Given the description of an element on the screen output the (x, y) to click on. 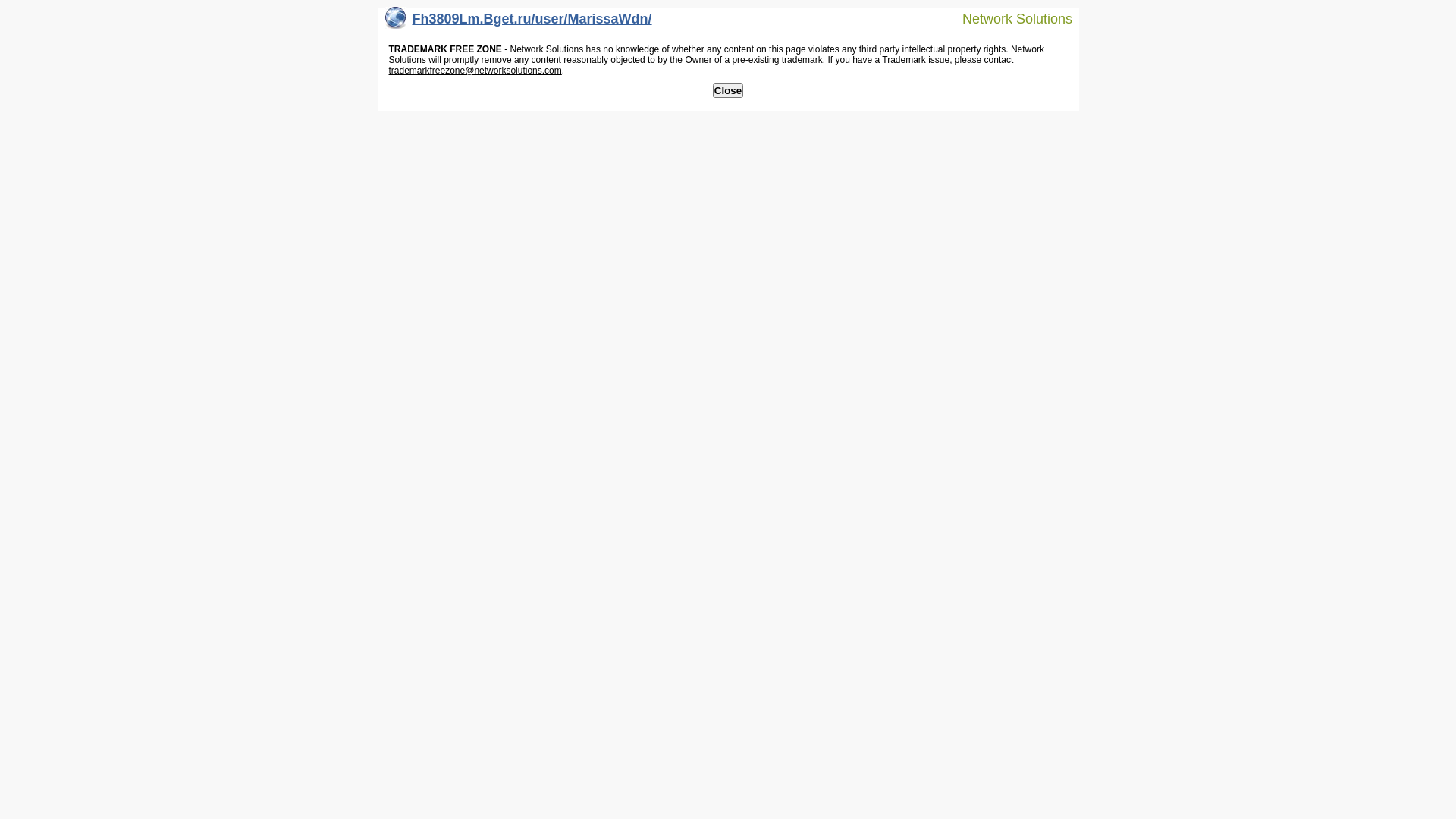
Fh3809Lm.Bget.ru/user/MarissaWdn/ Element type: text (518, 21)
Close Element type: text (727, 90)
trademarkfreezone@networksolutions.com Element type: text (474, 70)
Network Solutions Element type: text (1007, 17)
